Given the description of an element on the screen output the (x, y) to click on. 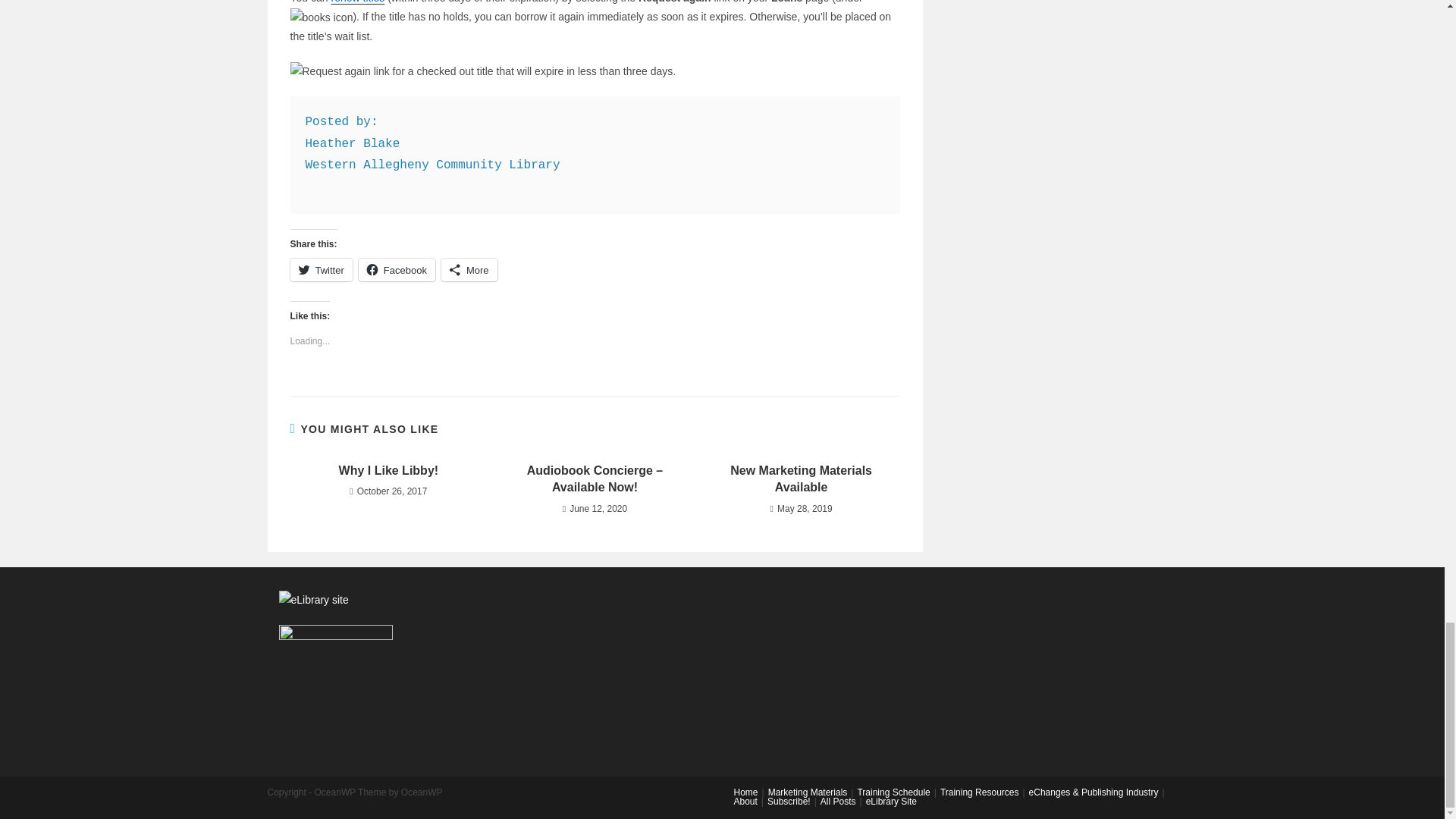
Click to share on Facebook (396, 269)
Click to share on Twitter (320, 269)
